Given the description of an element on the screen output the (x, y) to click on. 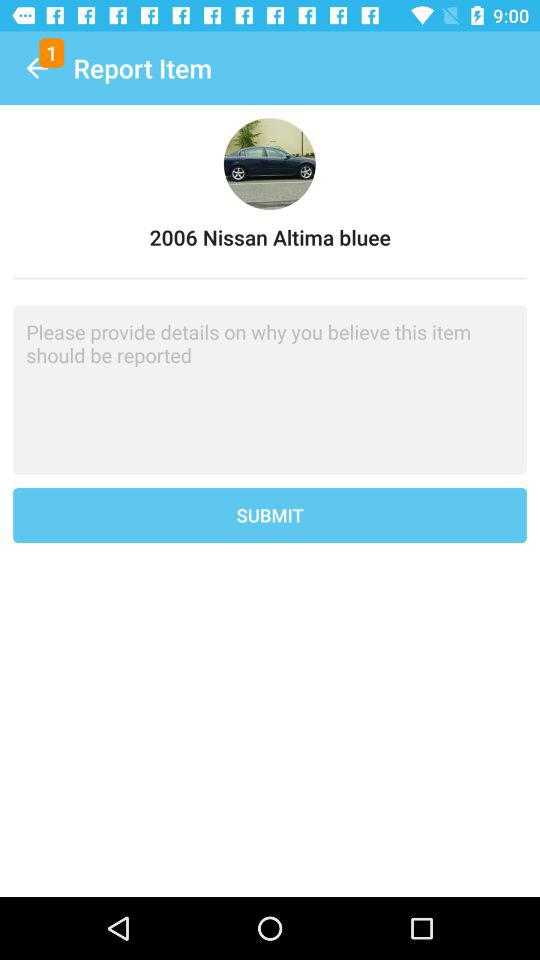
enter details on why item should be reported (269, 389)
